Given the description of an element on the screen output the (x, y) to click on. 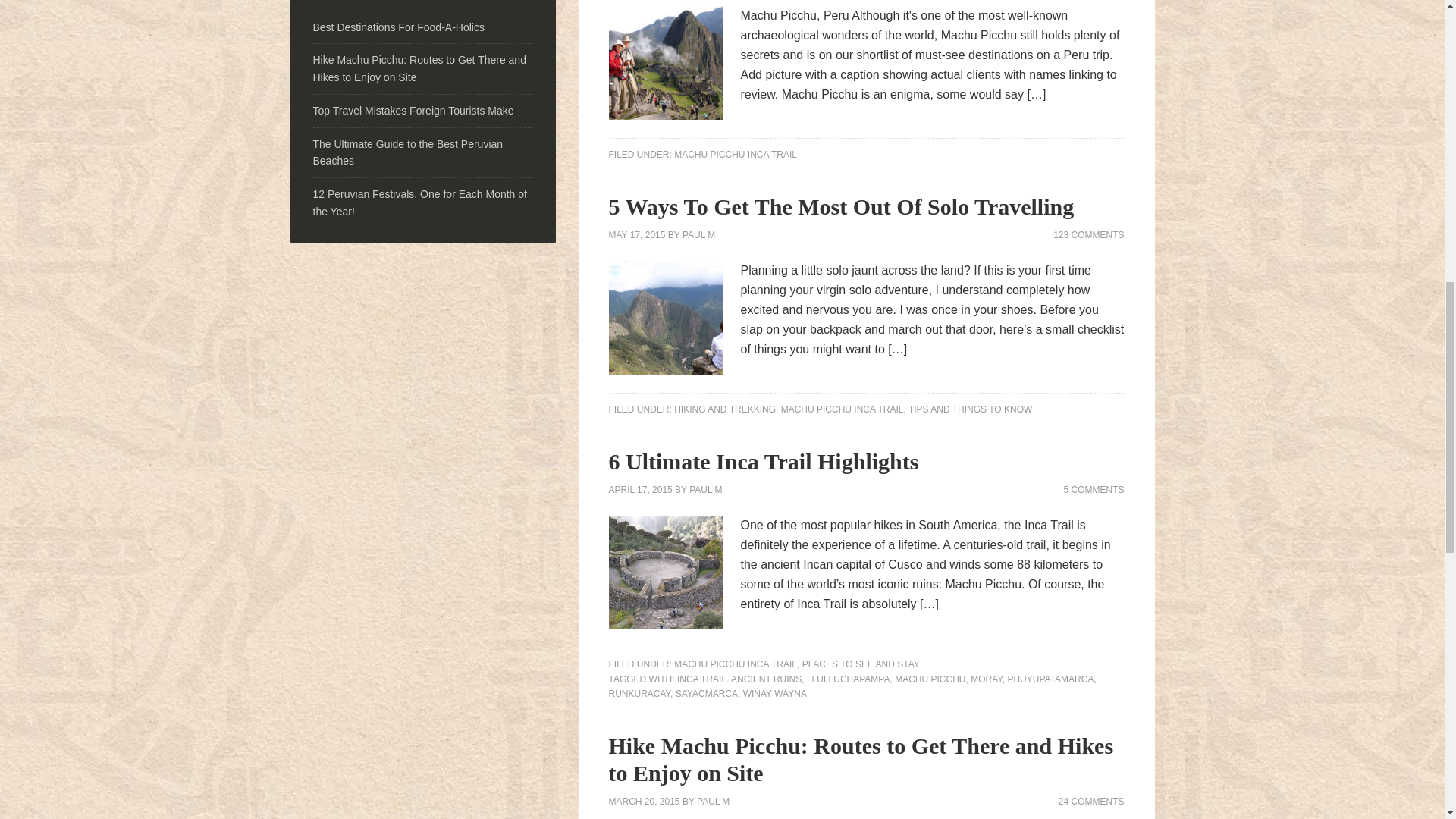
5 Ways To Get The Most Out Of Solo Travelling (841, 206)
MACHU PICCHU INCA TRAIL (735, 154)
123 COMMENTS (1088, 235)
PAUL M (698, 235)
